Given the description of an element on the screen output the (x, y) to click on. 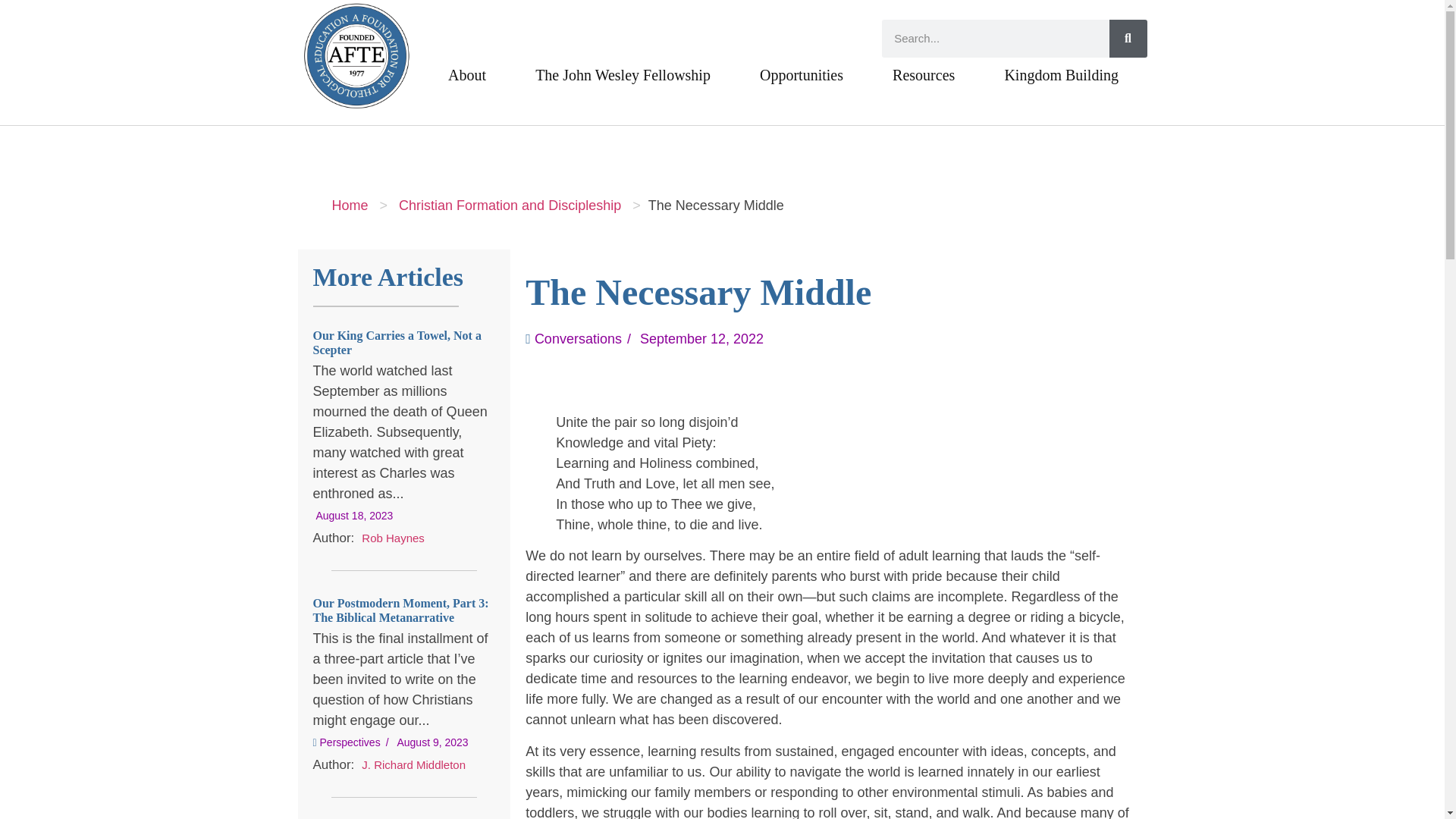
6:27 AM (431, 742)
11:54 AM (354, 515)
6:27 AM (431, 742)
Christian Formation and Discipleship (509, 205)
Home (349, 205)
The Necessary Middle (715, 205)
11:54 AM (354, 515)
